Given the description of an element on the screen output the (x, y) to click on. 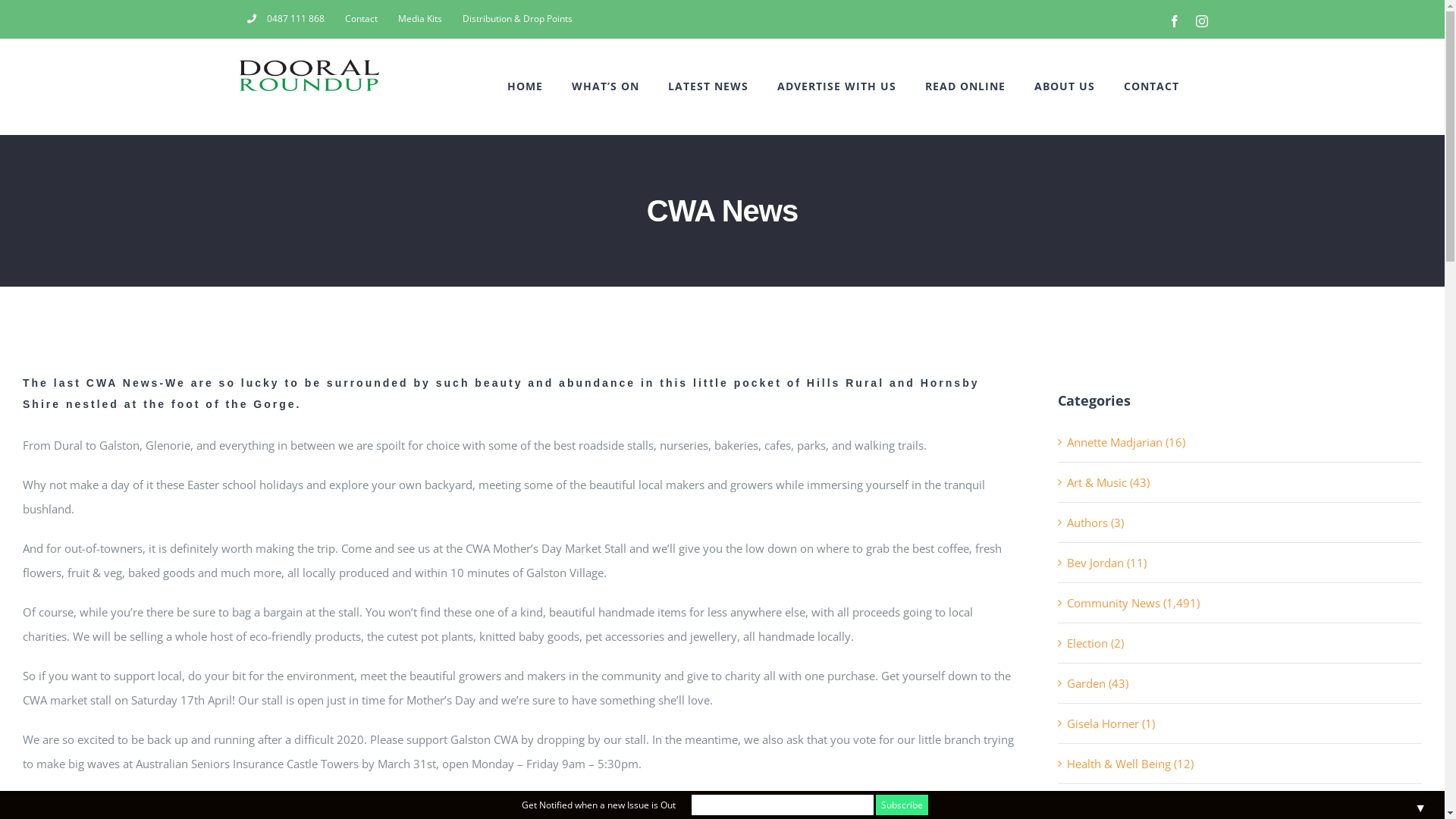
ABOUT US Element type: text (1064, 86)
HOME Element type: text (524, 86)
History (13) Element type: text (1240, 803)
Gisela Horner (1) Element type: text (1240, 723)
Authors (3) Element type: text (1240, 522)
Annette Madjarian (16) Element type: text (1240, 441)
0487 111 868 Element type: text (284, 18)
ADVERTISE WITH US Element type: text (835, 86)
Election (2) Element type: text (1240, 642)
LATEST NEWS Element type: text (707, 86)
Art & Music (43) Element type: text (1240, 482)
Community News (1,491) Element type: text (1240, 602)
CONTACT Element type: text (1151, 86)
Contact Element type: text (361, 18)
Distribution & Drop Points Element type: text (516, 18)
Health & Well Being (12) Element type: text (1240, 763)
Facebook Element type: text (1173, 21)
Media Kits Element type: text (419, 18)
READ ONLINE Element type: text (965, 86)
Instagram Element type: text (1201, 21)
Garden (43) Element type: text (1240, 683)
Subscribe Element type: text (901, 804)
Bev Jordan (11) Element type: text (1240, 562)
